Given the description of an element on the screen output the (x, y) to click on. 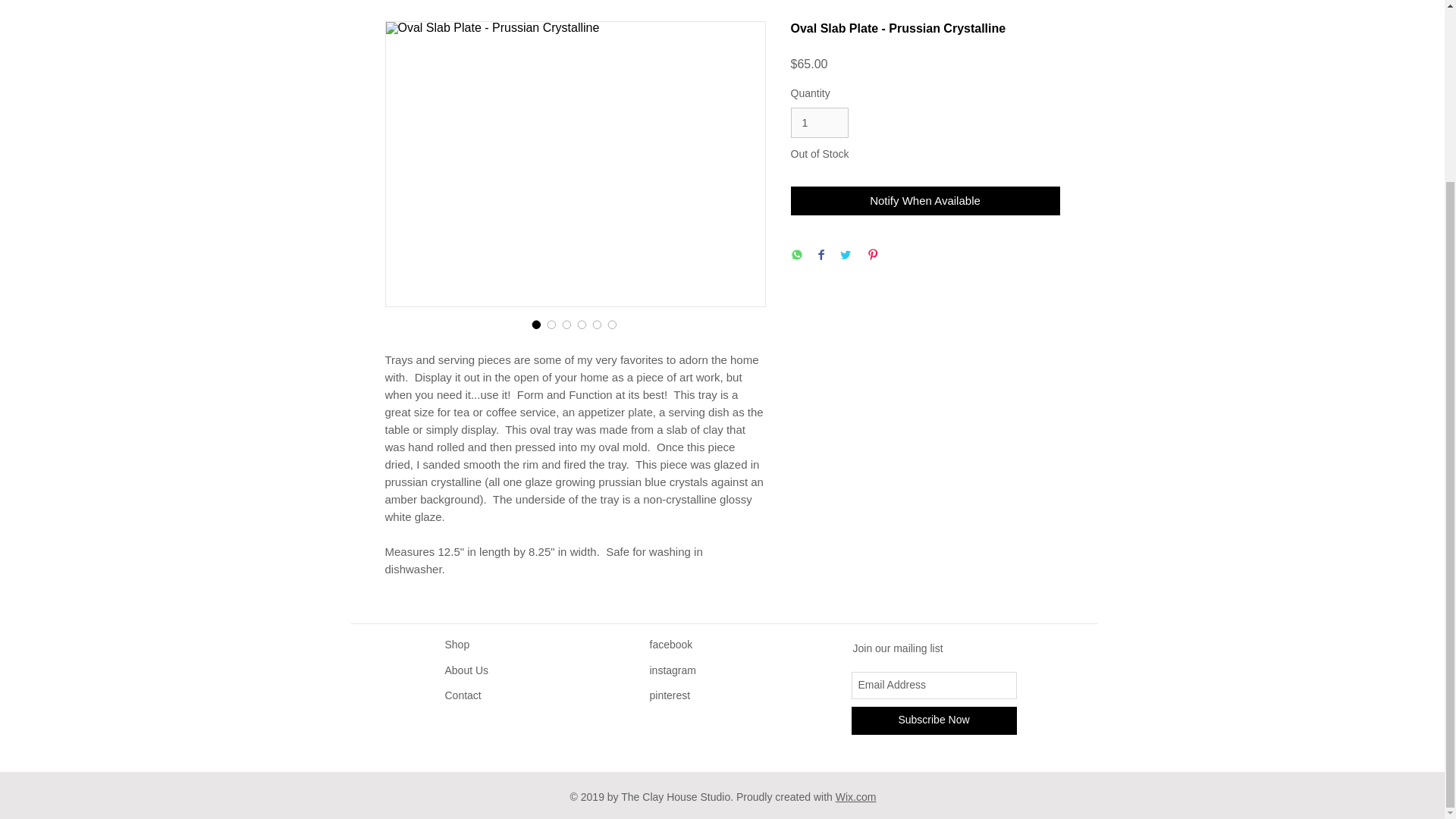
Contact (462, 695)
About Us (465, 670)
Notify When Available (924, 201)
Shop (456, 644)
instagram (672, 670)
pinterest (669, 695)
facebook (671, 644)
Subscribe Now (933, 720)
Wix.com (855, 797)
1 (818, 122)
